Given the description of an element on the screen output the (x, y) to click on. 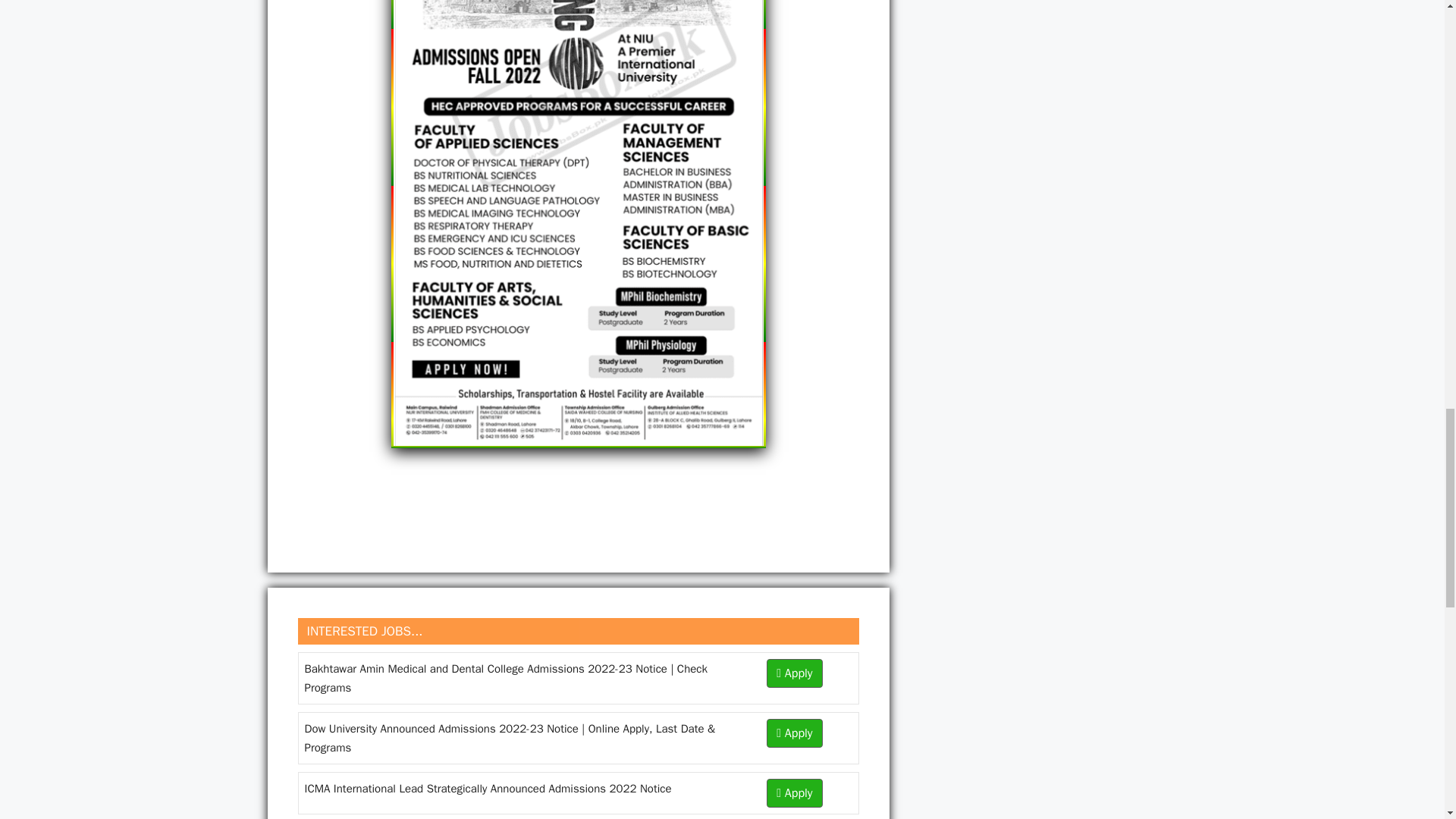
Apply (794, 792)
Apply (794, 672)
Apply (794, 733)
